Given the description of an element on the screen output the (x, y) to click on. 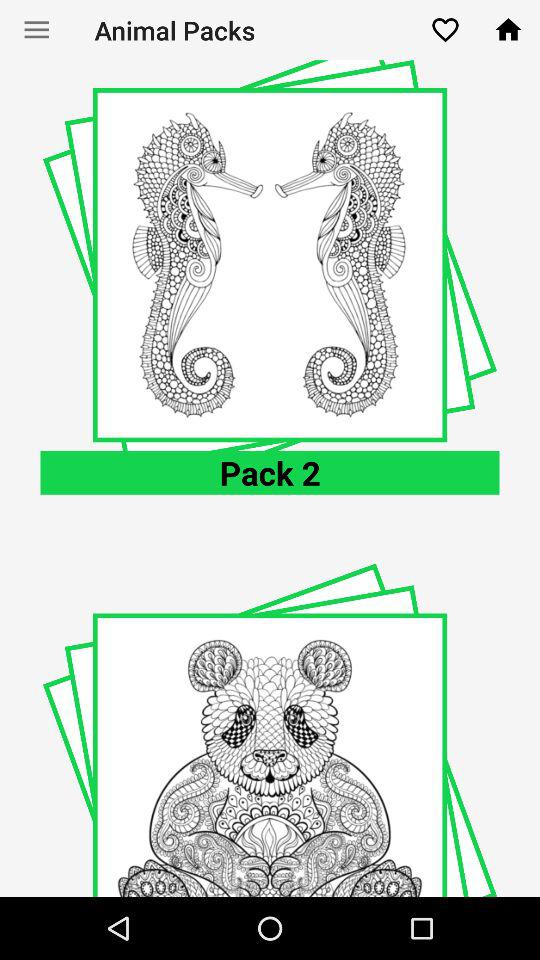
click on the image which is above pack 2 (269, 265)
